Given the description of an element on the screen output the (x, y) to click on. 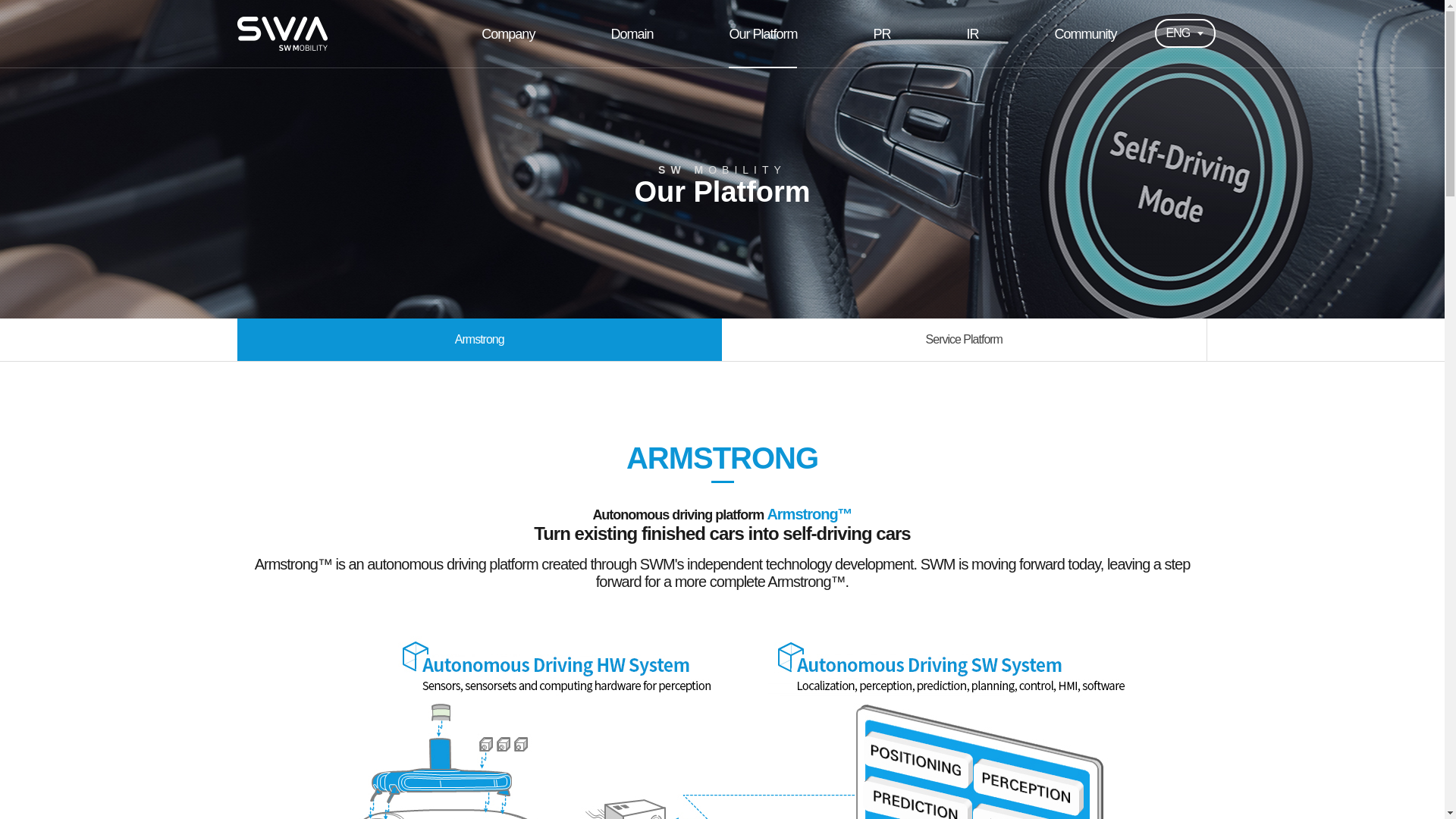
Domain (631, 33)
Armstrong (478, 339)
Service Platform (964, 339)
SSWM (280, 33)
ENG (1184, 32)
Our Platform (762, 33)
PR (881, 33)
Community (1085, 33)
Company (508, 33)
IR (972, 33)
